Given the description of an element on the screen output the (x, y) to click on. 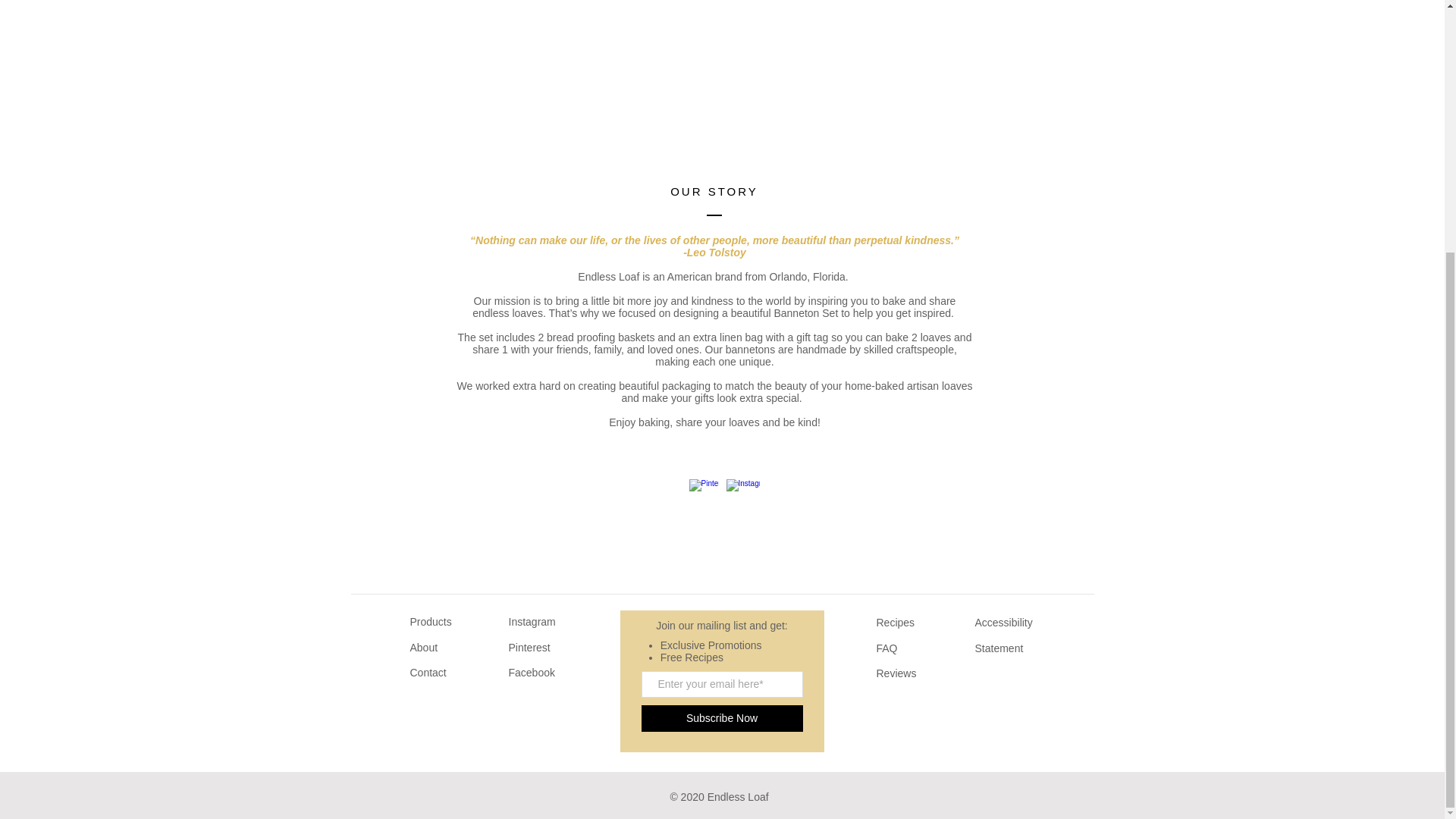
Contact (427, 672)
Statement (999, 648)
Join our mailing list and get: (721, 625)
About (423, 647)
Accessibility  (1005, 622)
Instagram (531, 621)
FAQ (887, 648)
Products (430, 621)
Subscribe Now (722, 718)
Recipes (895, 622)
Facebook (531, 672)
Reviews (896, 673)
Pinterest (529, 647)
